Given the description of an element on the screen output the (x, y) to click on. 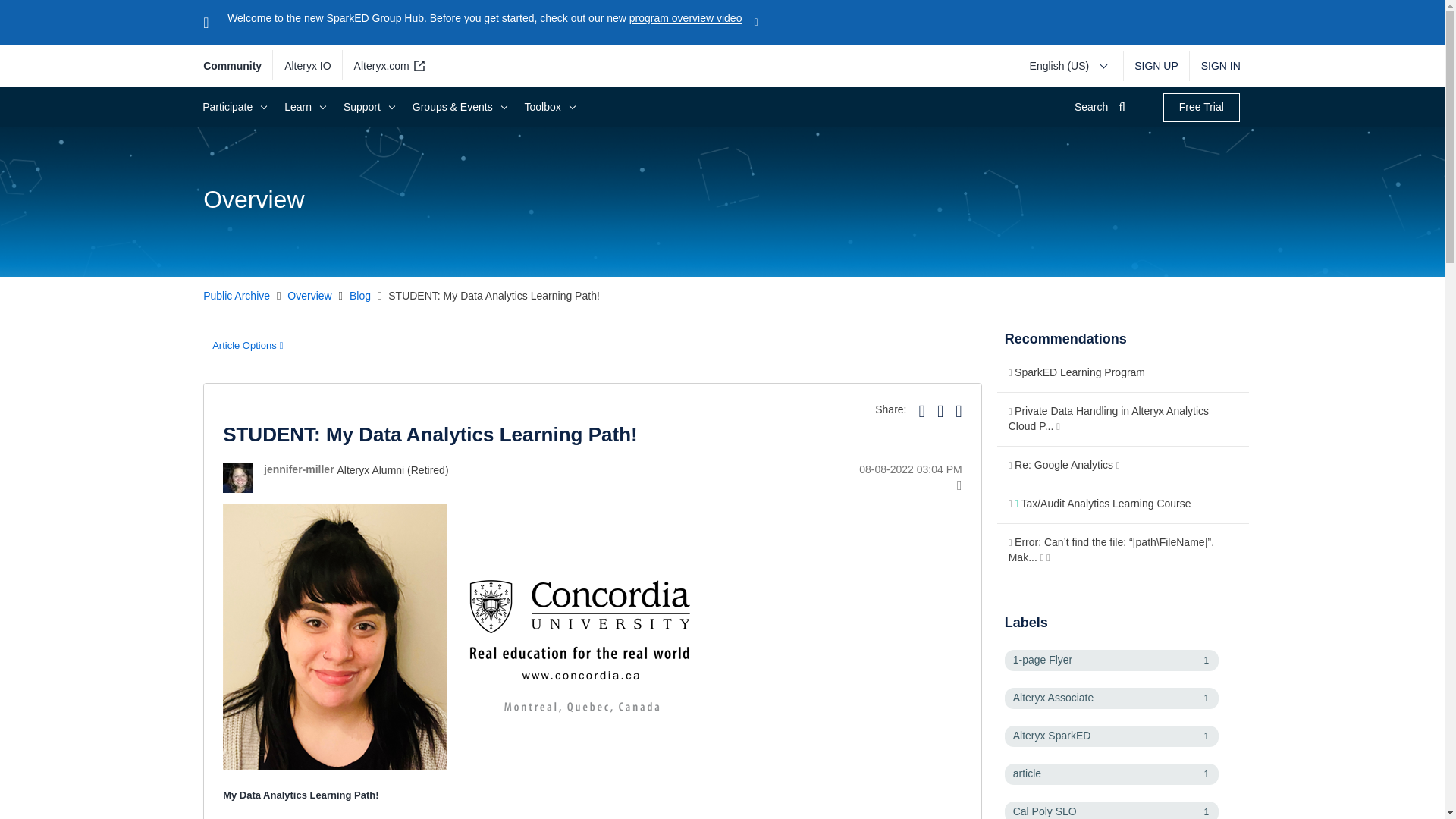
community-tile-romina-arietta-2.png (469, 636)
SIGN IN (1215, 65)
alteryx.com (386, 65)
Show option menu (247, 345)
program overview video (685, 18)
Learn (303, 106)
Community (238, 65)
Posted on (776, 469)
jennifer-miller (237, 477)
